Given the description of an element on the screen output the (x, y) to click on. 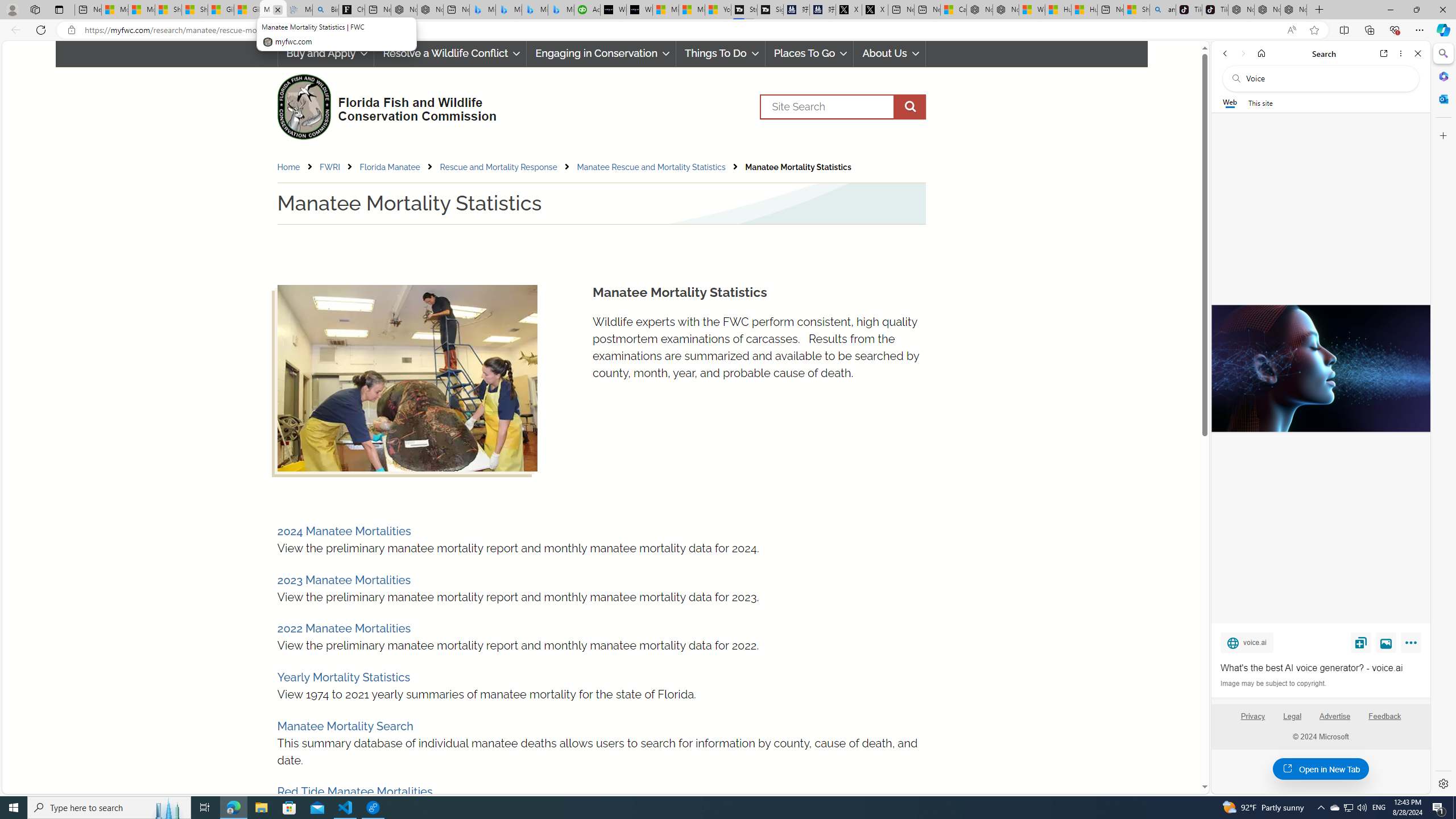
Split screen (1344, 29)
Places To Go (809, 53)
2023 Manatee Mortalities (343, 579)
Bing Real Estate - Home sales and rental listings (325, 9)
Manatee Rescue and Mortality Statistics (660, 166)
Open link in new tab (1383, 53)
Manatee Necropsy (406, 377)
Web scope (1230, 102)
Red Tide Manatee Mortalities (354, 791)
Rescue and Mortality Response (507, 166)
Minimize (1390, 9)
Legal (1291, 715)
Nordace Siena Pro 15 Backpack (1267, 9)
App bar (728, 29)
